Given the description of an element on the screen output the (x, y) to click on. 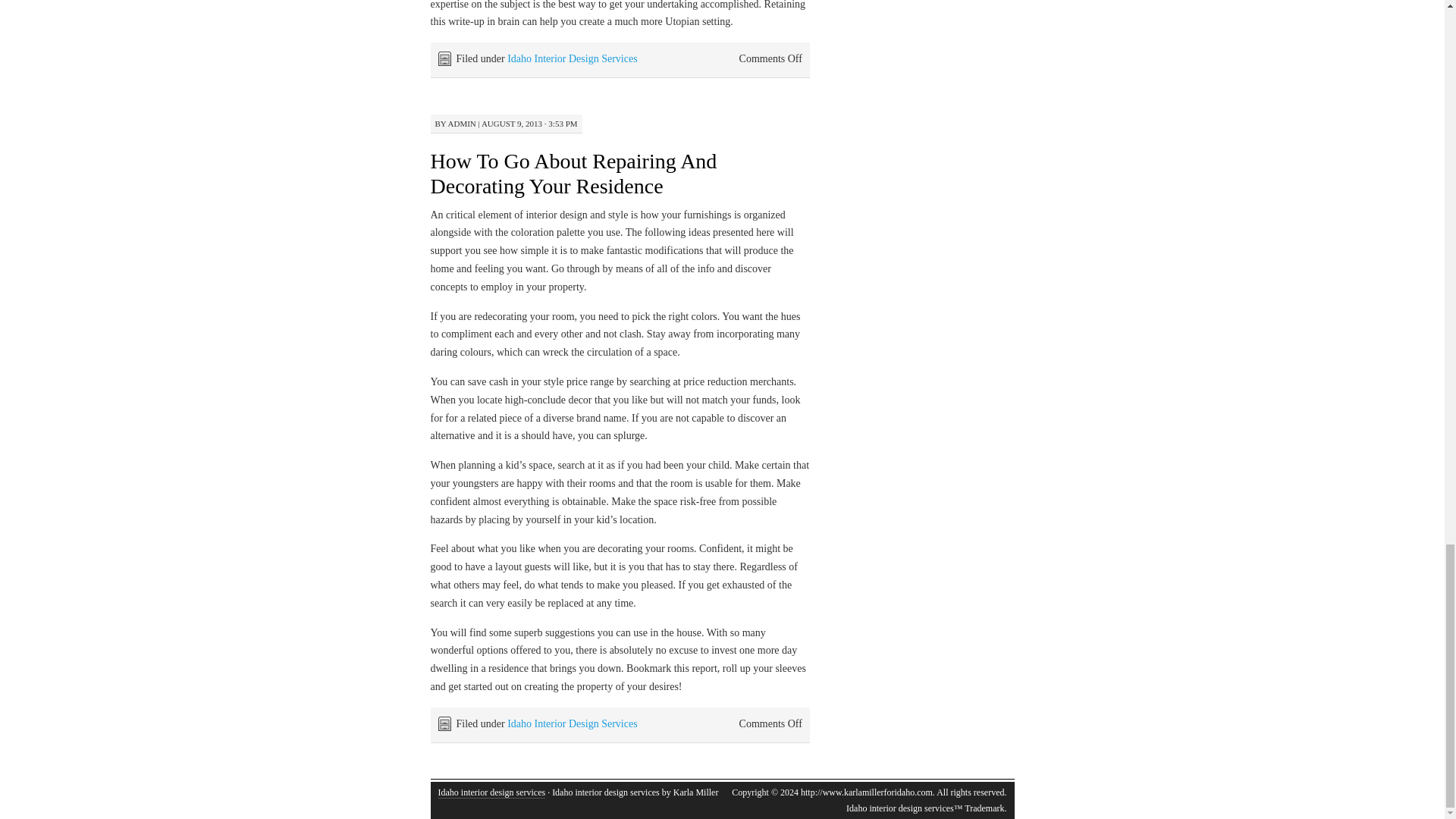
Idaho Interior Design Services (571, 723)
Idaho Interior Design Services (571, 58)
ADMIN (462, 122)
How To Go About Repairing And Decorating Your Residence (573, 173)
View all posts by admin (462, 122)
Idaho interior design services (492, 792)
